Given the description of an element on the screen output the (x, y) to click on. 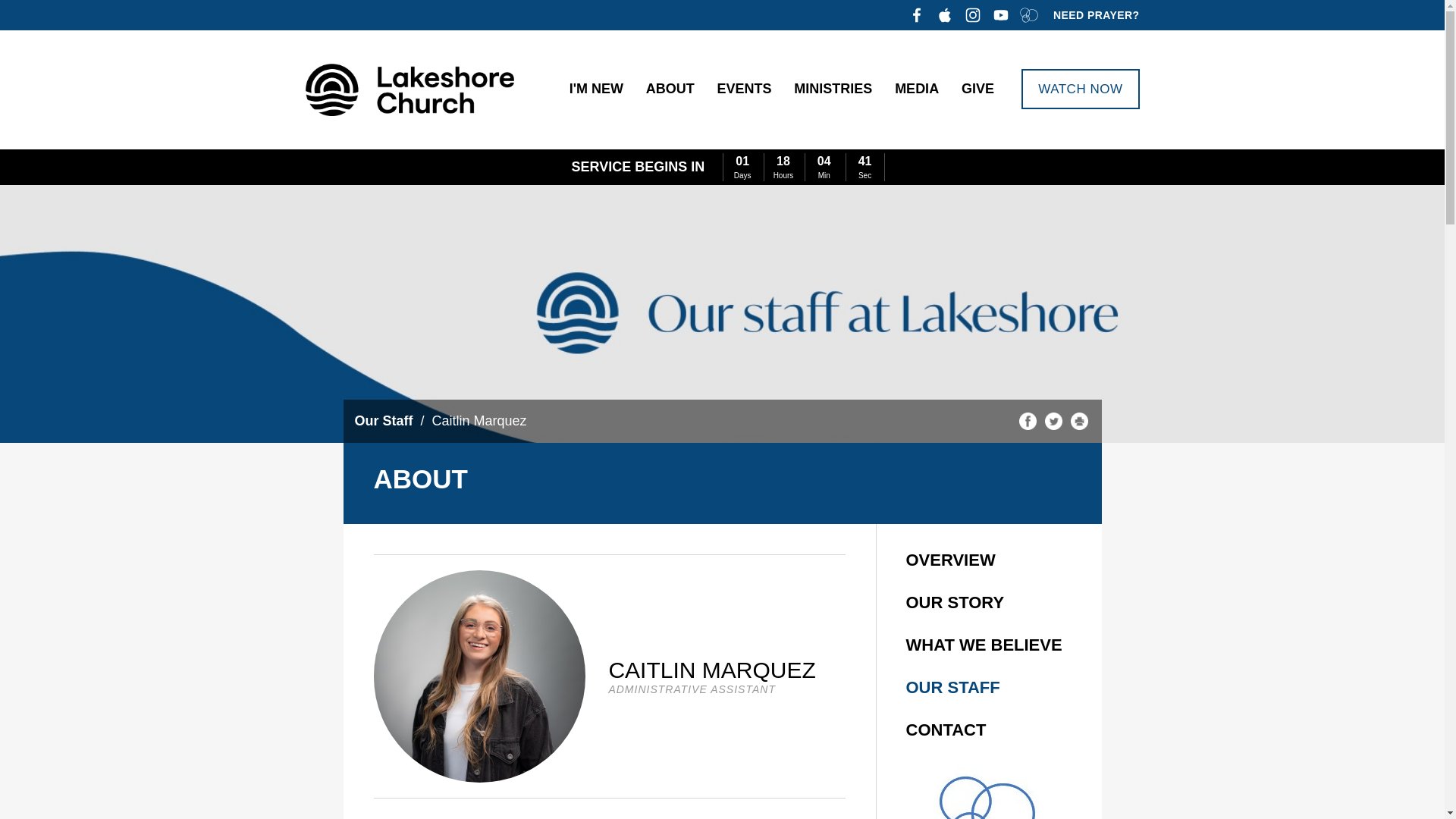
NEED PRAYER? (1095, 15)
MEDIA (917, 88)
EVENTS (743, 88)
I'M NEW (601, 88)
GIVE (977, 88)
ABOUT (669, 88)
MINISTRIES (833, 88)
WATCH NOW (1080, 88)
